Given the description of an element on the screen output the (x, y) to click on. 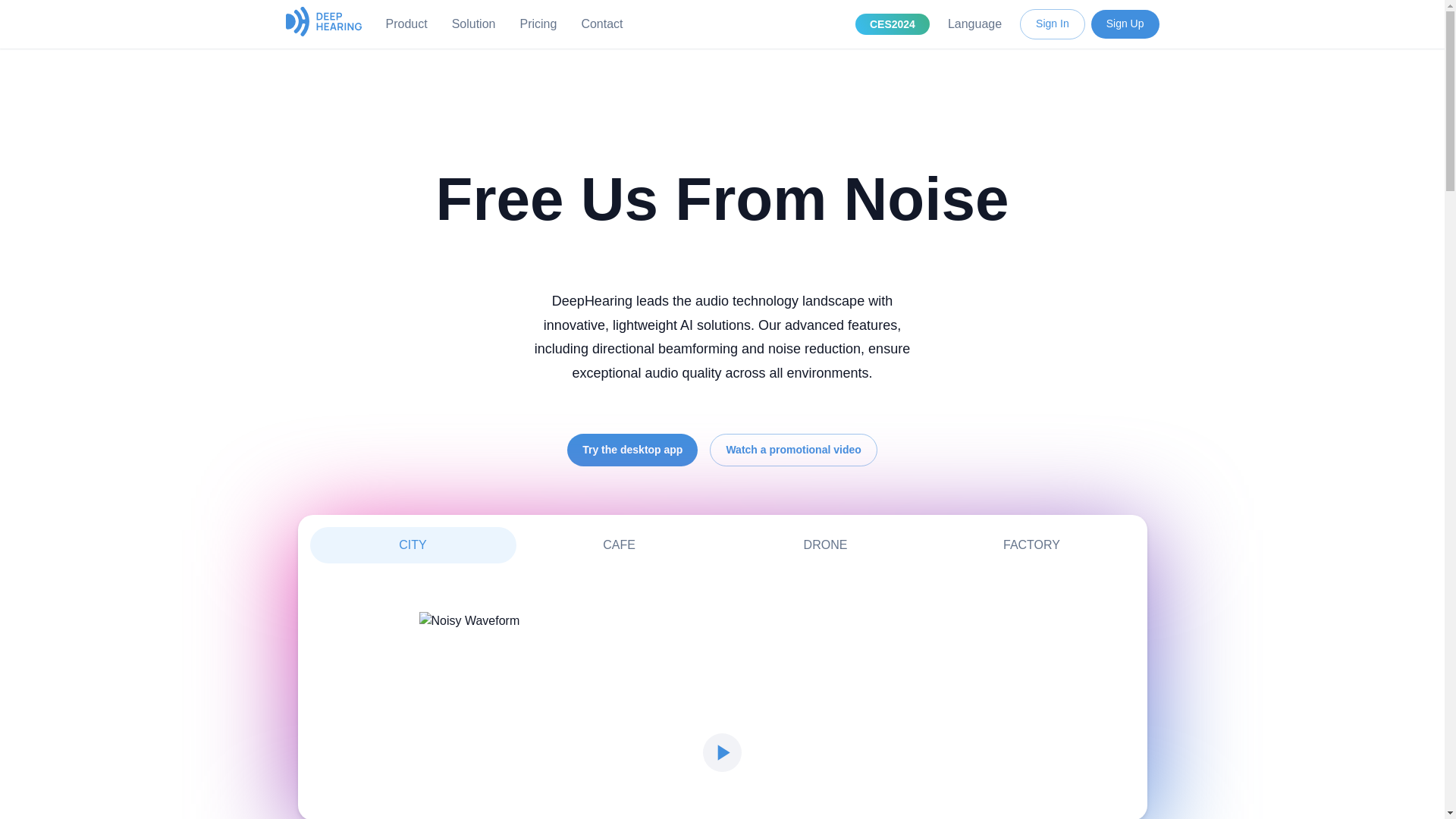
Sign Up (1124, 23)
Watch a promotional video (793, 450)
Product (405, 23)
Try the desktop app (721, 544)
Contact (632, 450)
Language (601, 23)
Pricing (974, 23)
DRONE (537, 23)
Sign In (825, 544)
CES2024 (1052, 24)
Solution (893, 24)
CITY (473, 23)
FACTORY (411, 544)
CAFE (1031, 544)
